Given the description of an element on the screen output the (x, y) to click on. 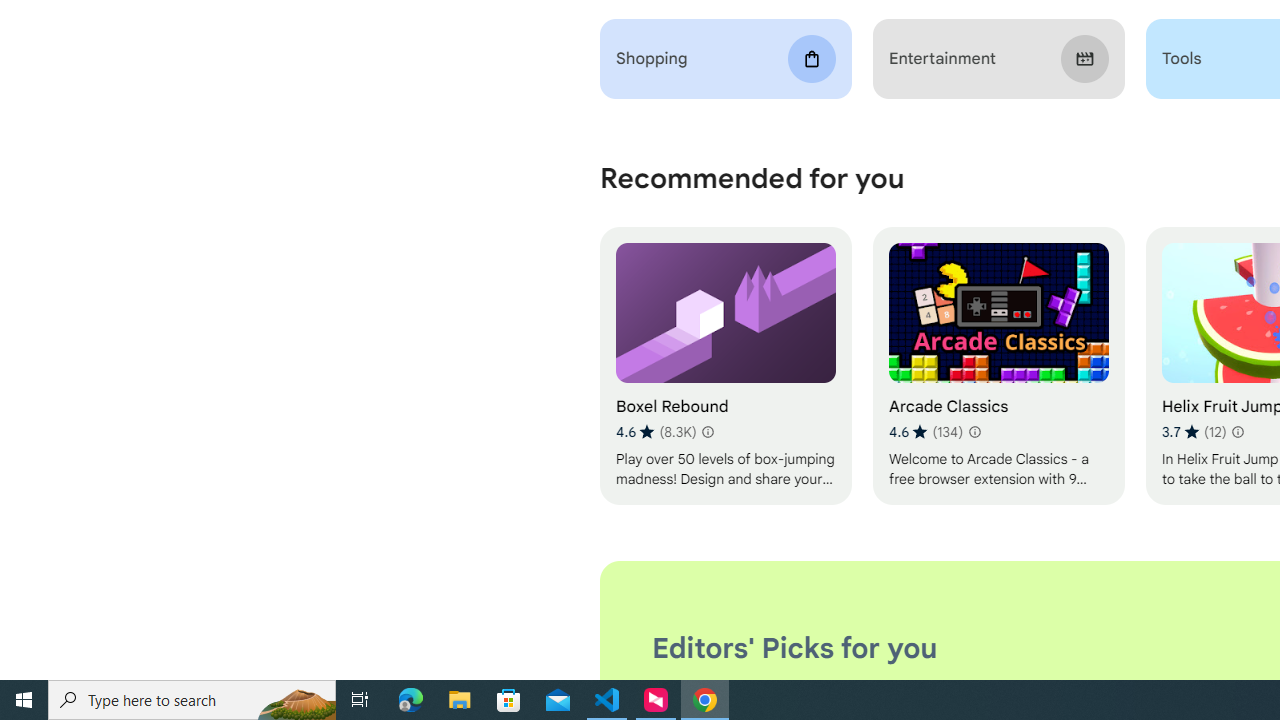
Arcade Classics (998, 366)
Average rating 3.7 out of 5 stars. 12 ratings. (1193, 431)
Shopping (725, 59)
Learn more about results and reviews "Arcade Classics" (973, 431)
Entertainment (998, 59)
Average rating 4.6 out of 5 stars. 8.3K ratings. (655, 431)
Learn more about results and reviews "Boxel Rebound" (707, 431)
Boxel Rebound (725, 366)
Average rating 4.6 out of 5 stars. 134 ratings. (925, 431)
